Given the description of an element on the screen output the (x, y) to click on. 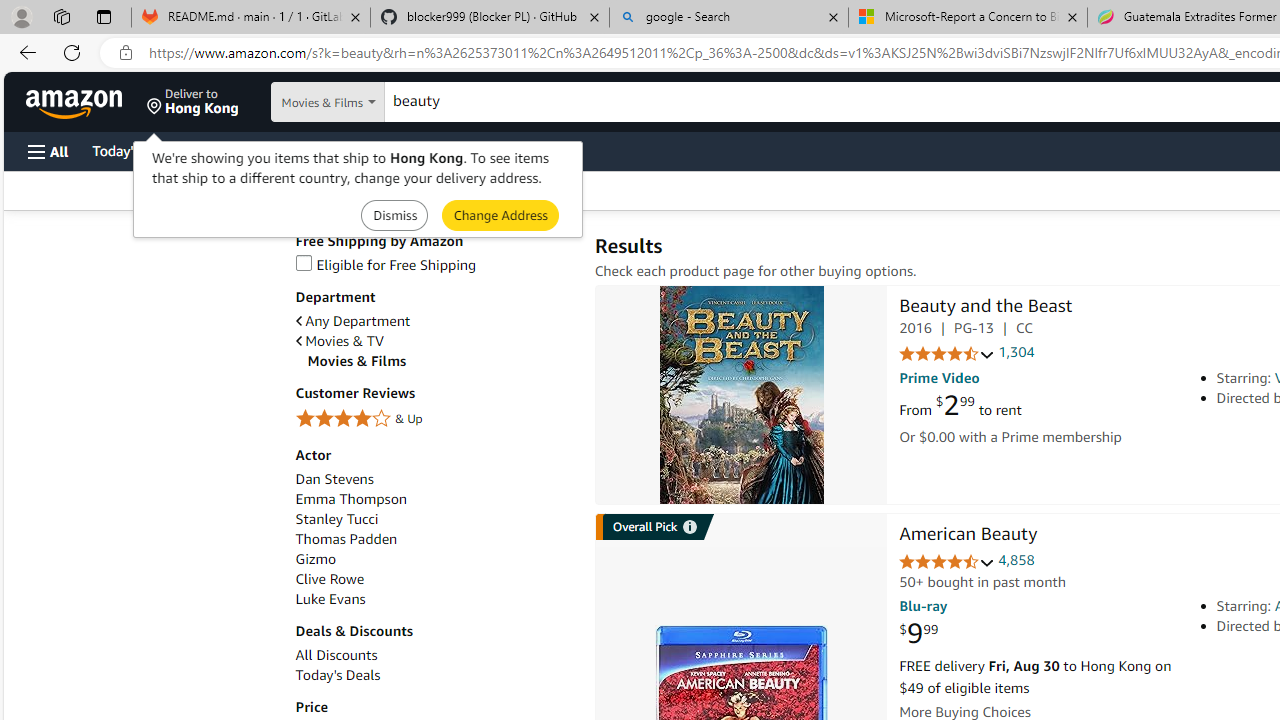
Thomas Padden (434, 539)
Gizmo (434, 559)
Gizmo (315, 559)
Clive Rowe (329, 579)
Emma Thompson (350, 499)
Open Menu (48, 151)
American Beauty (968, 535)
$9.99 (918, 634)
Skip to main content (86, 100)
Any Department (434, 321)
Movies & Films (440, 361)
All Discounts (335, 655)
